Given the description of an element on the screen output the (x, y) to click on. 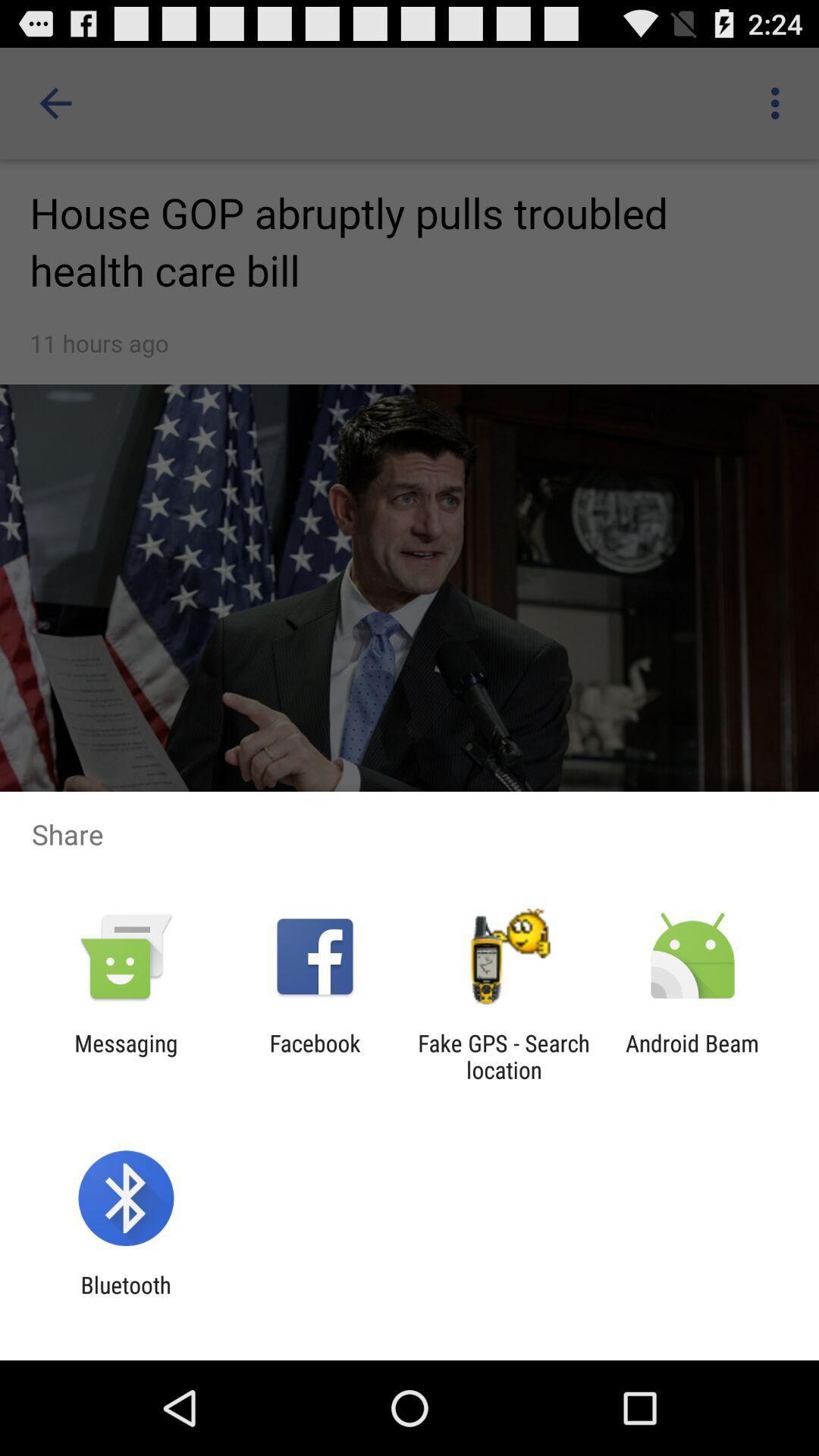
swipe to the bluetooth item (125, 1298)
